Given the description of an element on the screen output the (x, y) to click on. 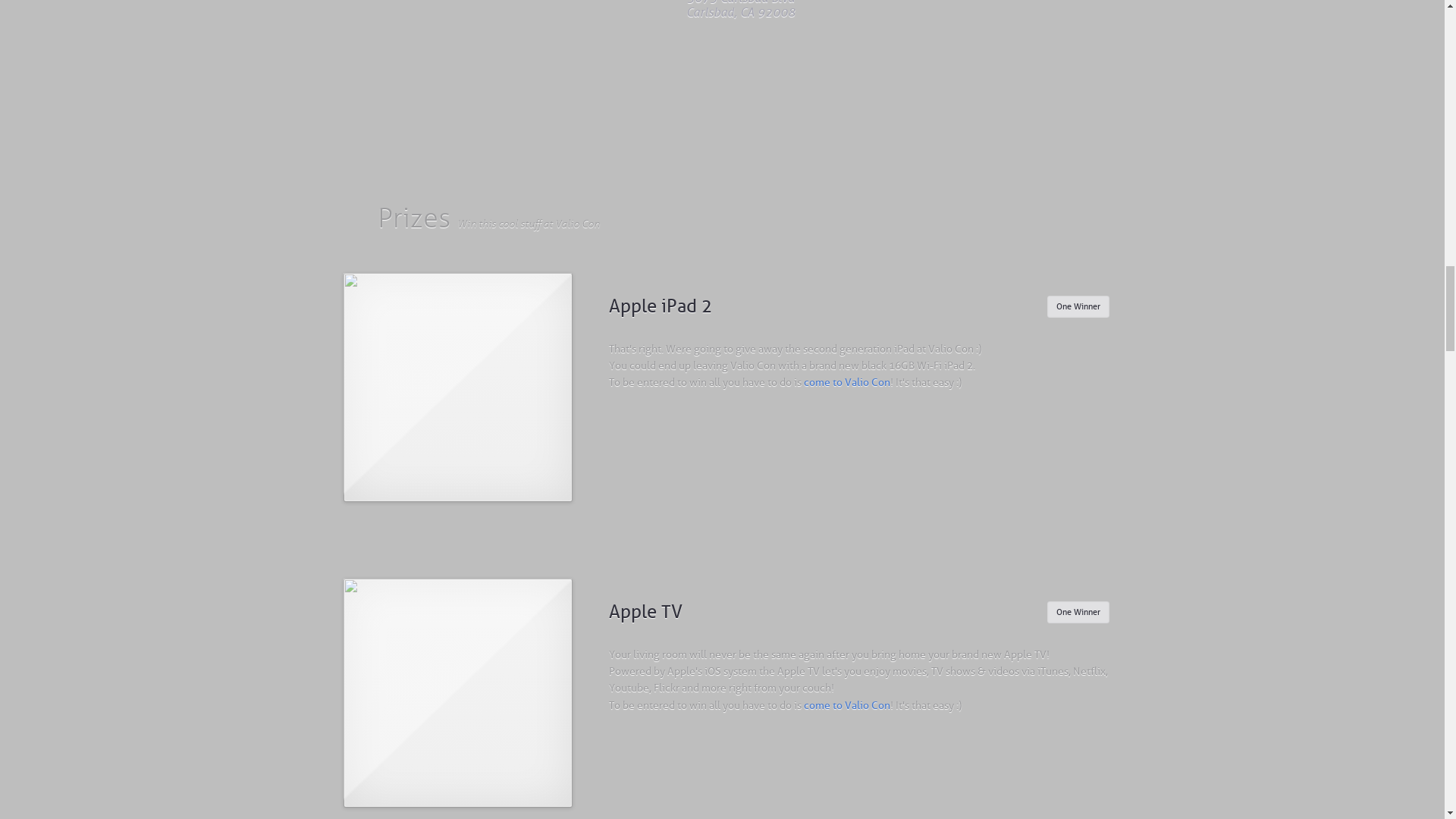
come to Valio Con (846, 381)
come to Valio Con (846, 705)
APPLE IPAD 2 (456, 386)
APPLE TV (456, 692)
